Given the description of an element on the screen output the (x, y) to click on. 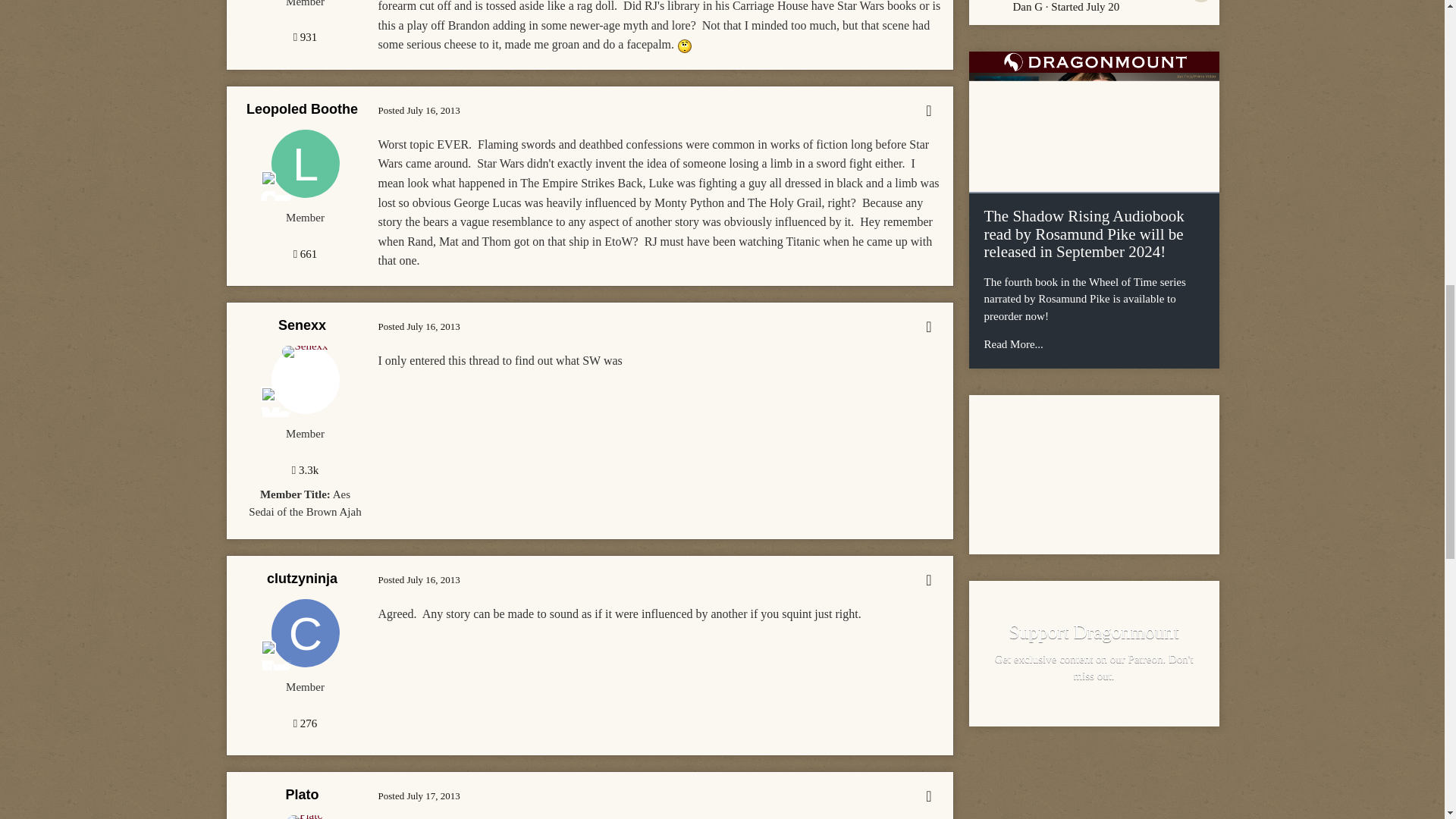
931 posts (305, 37)
